Given the description of an element on the screen output the (x, y) to click on. 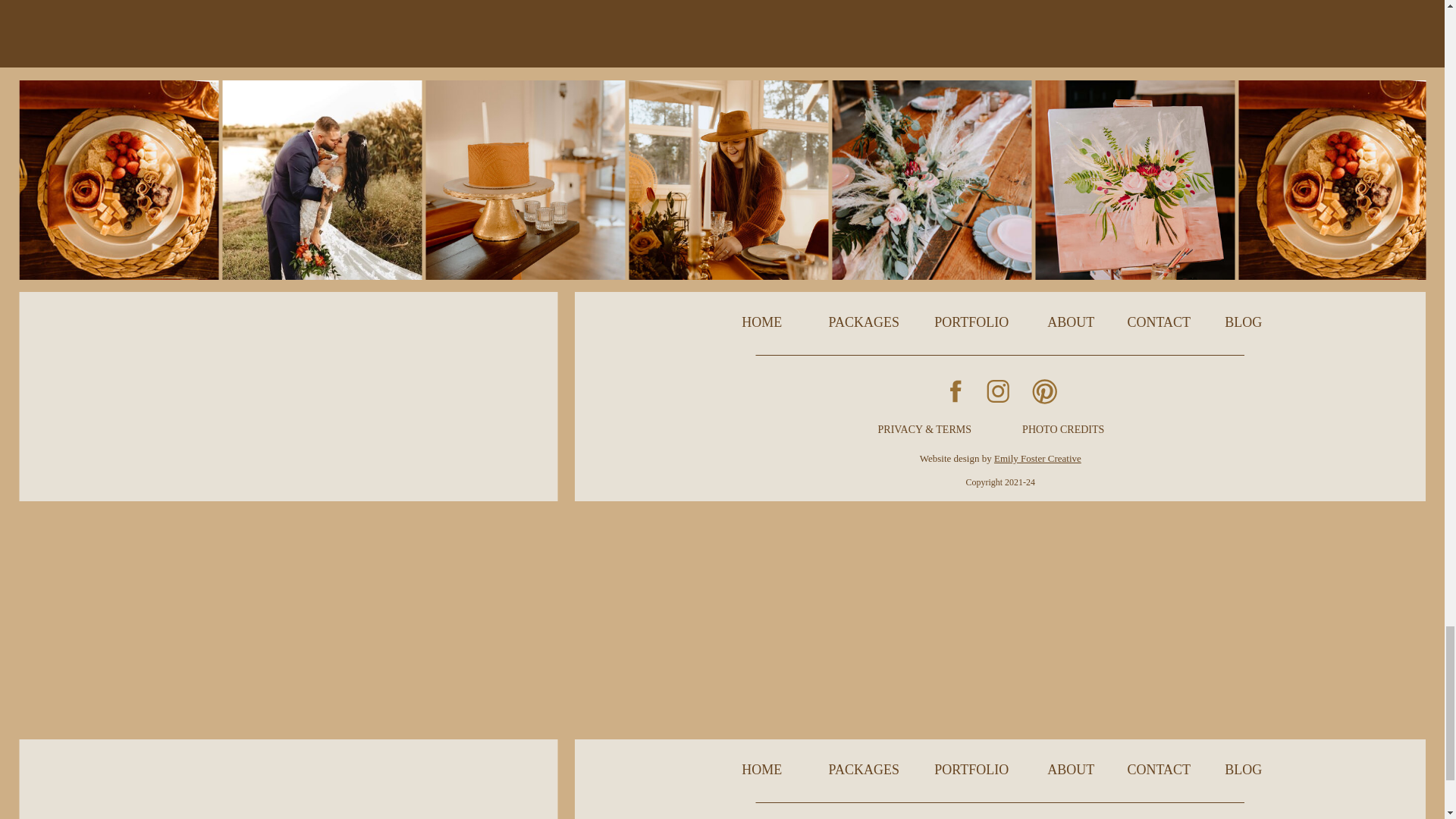
ABOUT (1070, 320)
HOME (761, 767)
ABOUT (1070, 767)
HOME (761, 320)
Emily Foster Creative (1037, 458)
Styledshoot-16 (930, 180)
Daisy-and-Sun-Events-painting (1134, 180)
CONTACT (1157, 767)
Daisy-and-Sun-Events-charcuterie-board-packages (1338, 180)
Daisy-and-Sun-Events-Katelynn-setting-up-tablescape (728, 180)
PACKAGES (864, 767)
BLOG (1242, 767)
PACKAGES (864, 320)
BLOG (1242, 320)
PHOTO CREDITS (1063, 427)
